Given the description of an element on the screen output the (x, y) to click on. 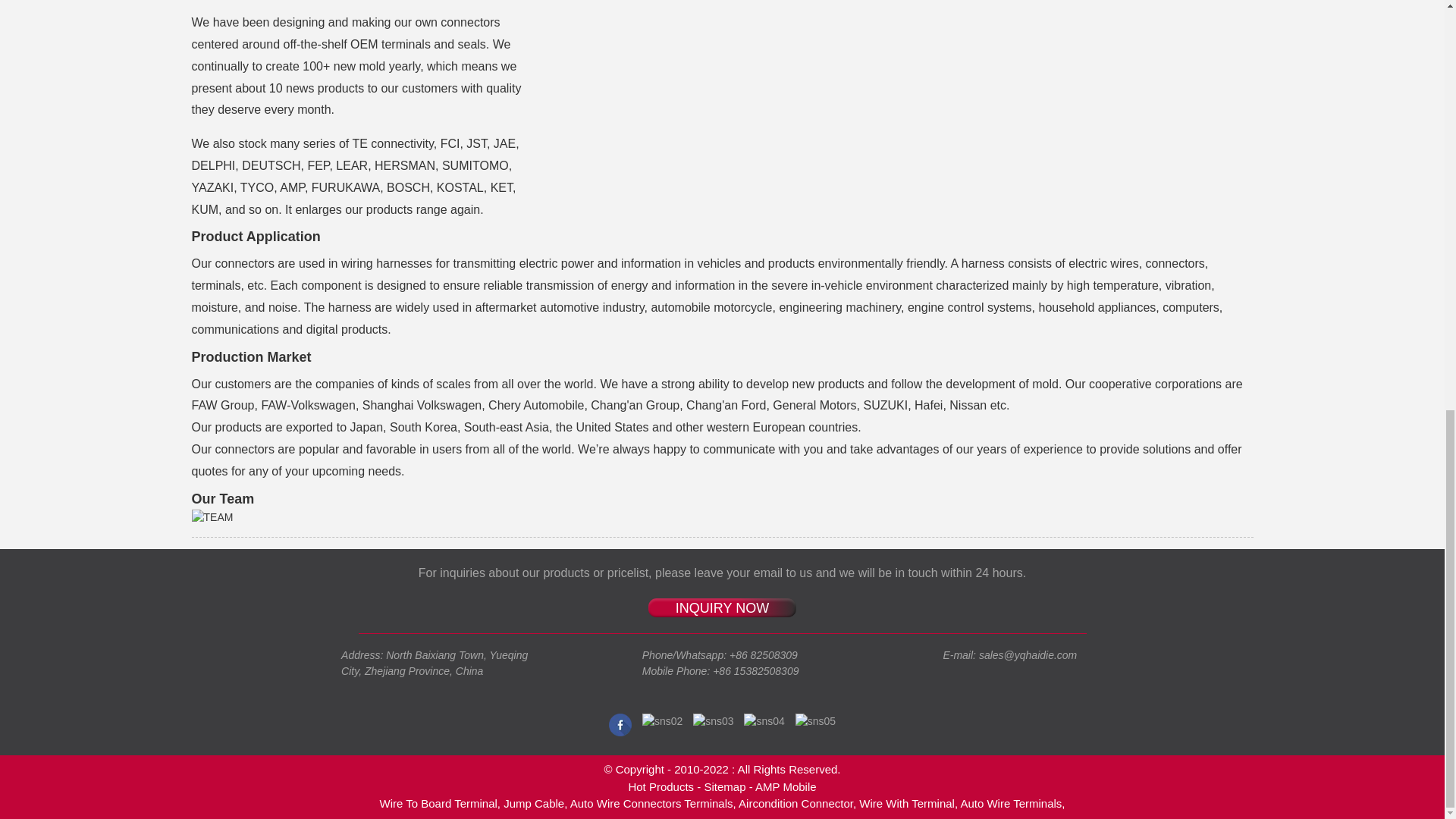
Wire With Terminal (907, 802)
Auto Wire Connectors Terminals (651, 802)
Aircondition Connector (795, 802)
Wire To Board Terminal (437, 802)
Jump Cable (533, 802)
Auto Wire Terminals (1010, 802)
